Given the description of an element on the screen output the (x, y) to click on. 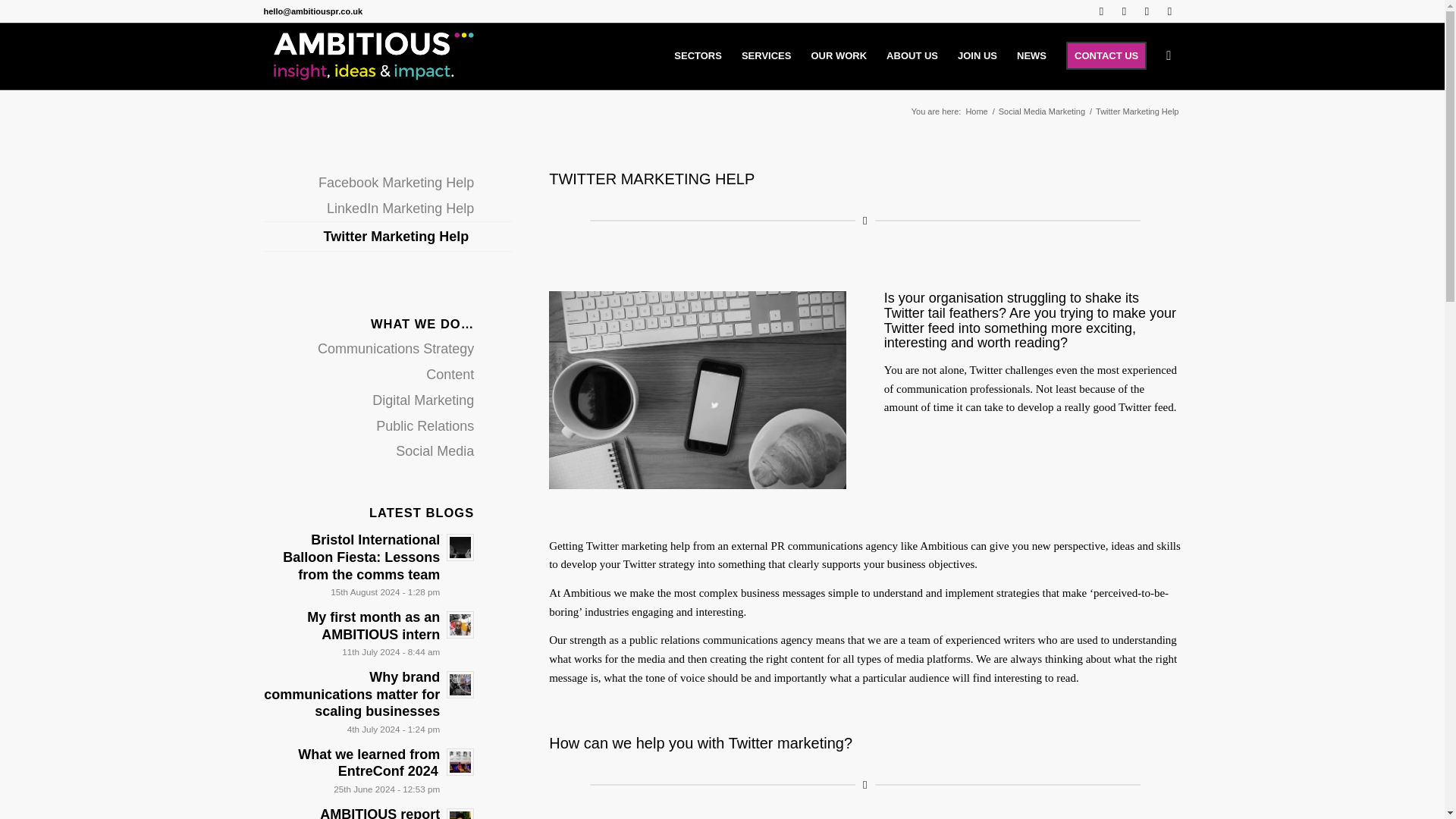
Social Media Marketing (1041, 111)
Instagram (1169, 11)
CONTACT US (1106, 55)
Twitter (1101, 11)
LinkedIn (1124, 11)
ABOUT US (911, 55)
SECTORS (697, 55)
Social Media Marketing (1041, 111)
Home (976, 111)
SERVICES (767, 55)
